Given the description of an element on the screen output the (x, y) to click on. 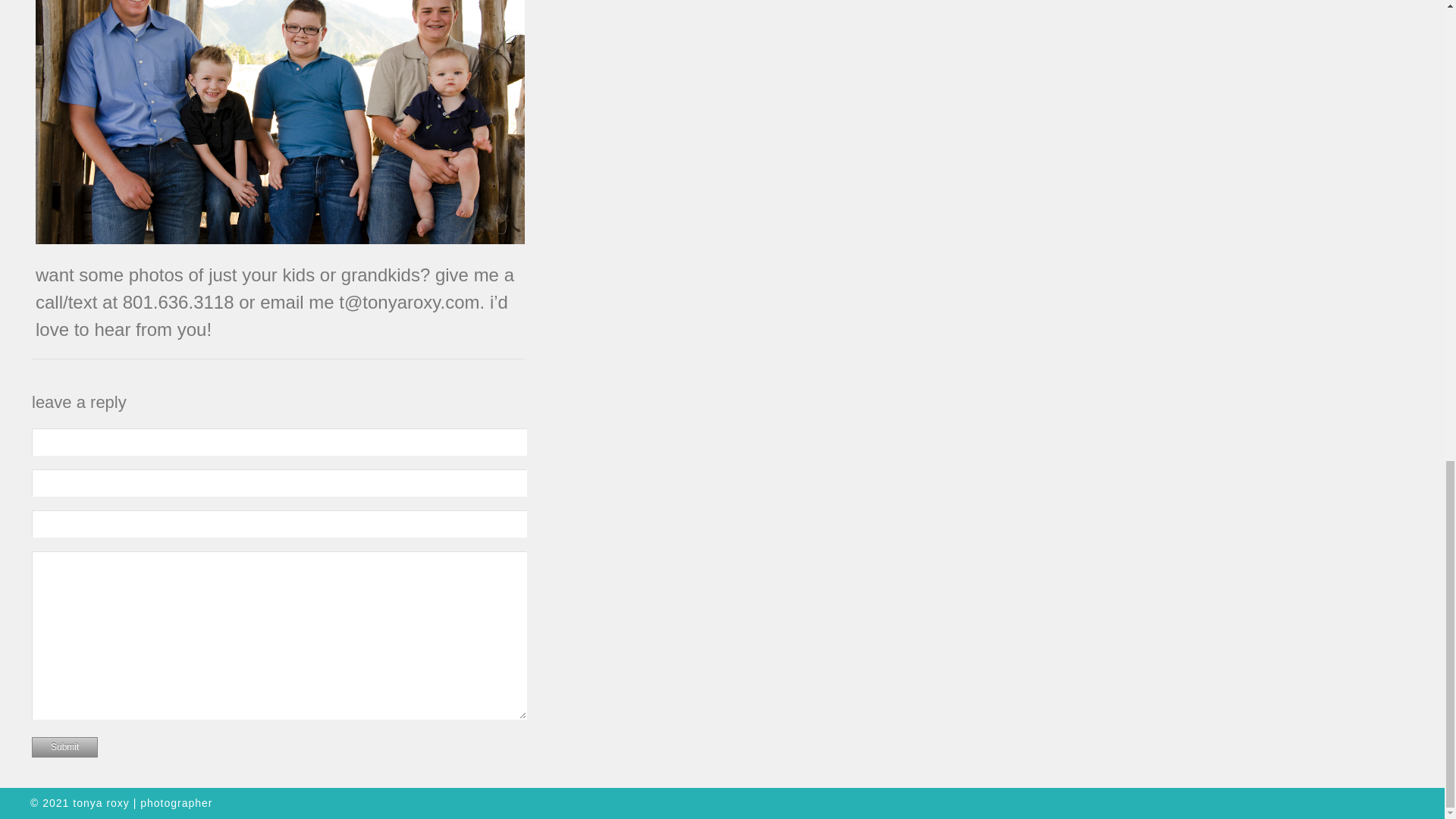
Website (279, 523)
Submit (64, 747)
Kids Photography Utah County-5310 (279, 122)
Submit (64, 747)
